Given the description of an element on the screen output the (x, y) to click on. 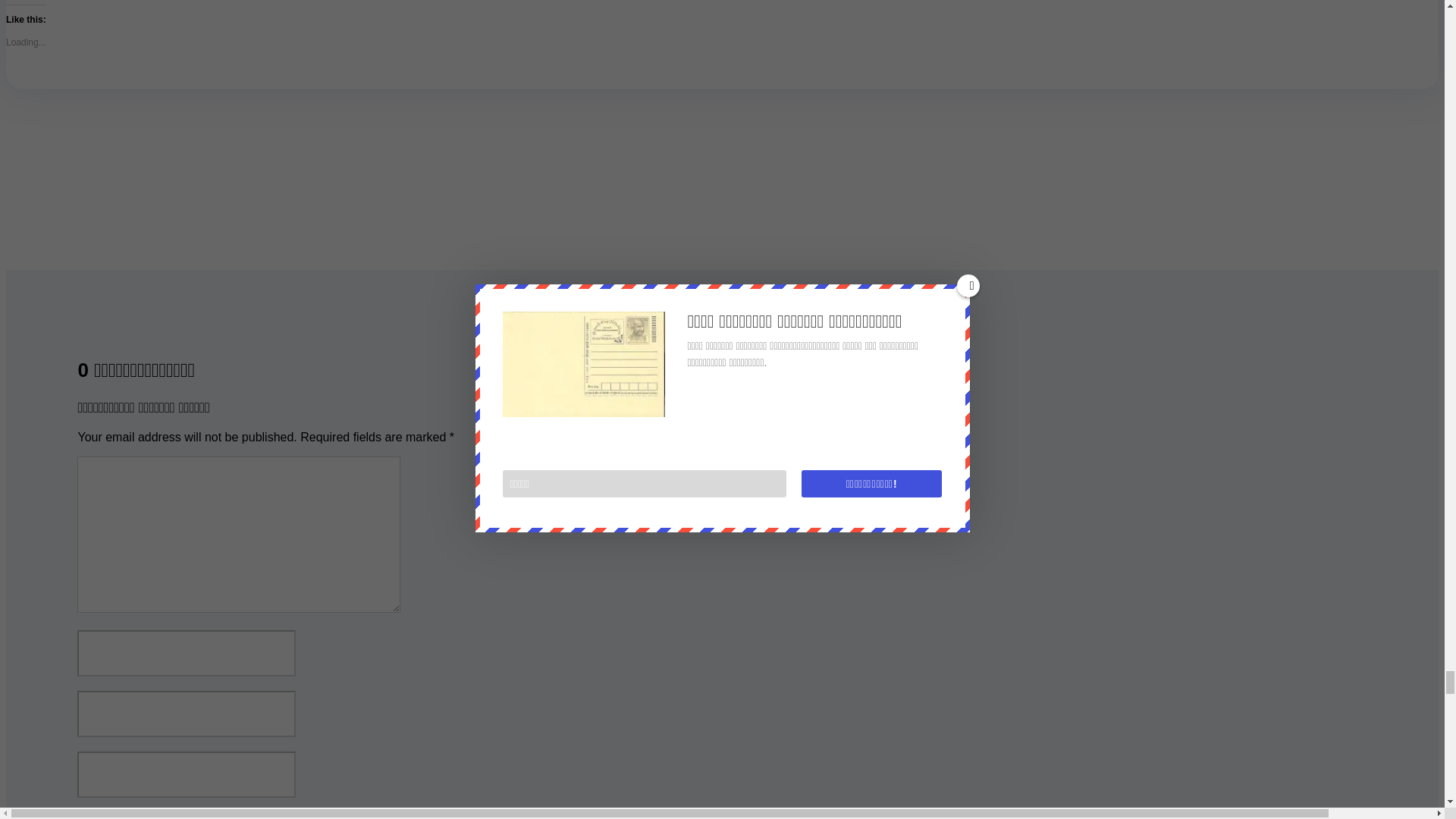
1 (85, 816)
